Given the description of an element on the screen output the (x, y) to click on. 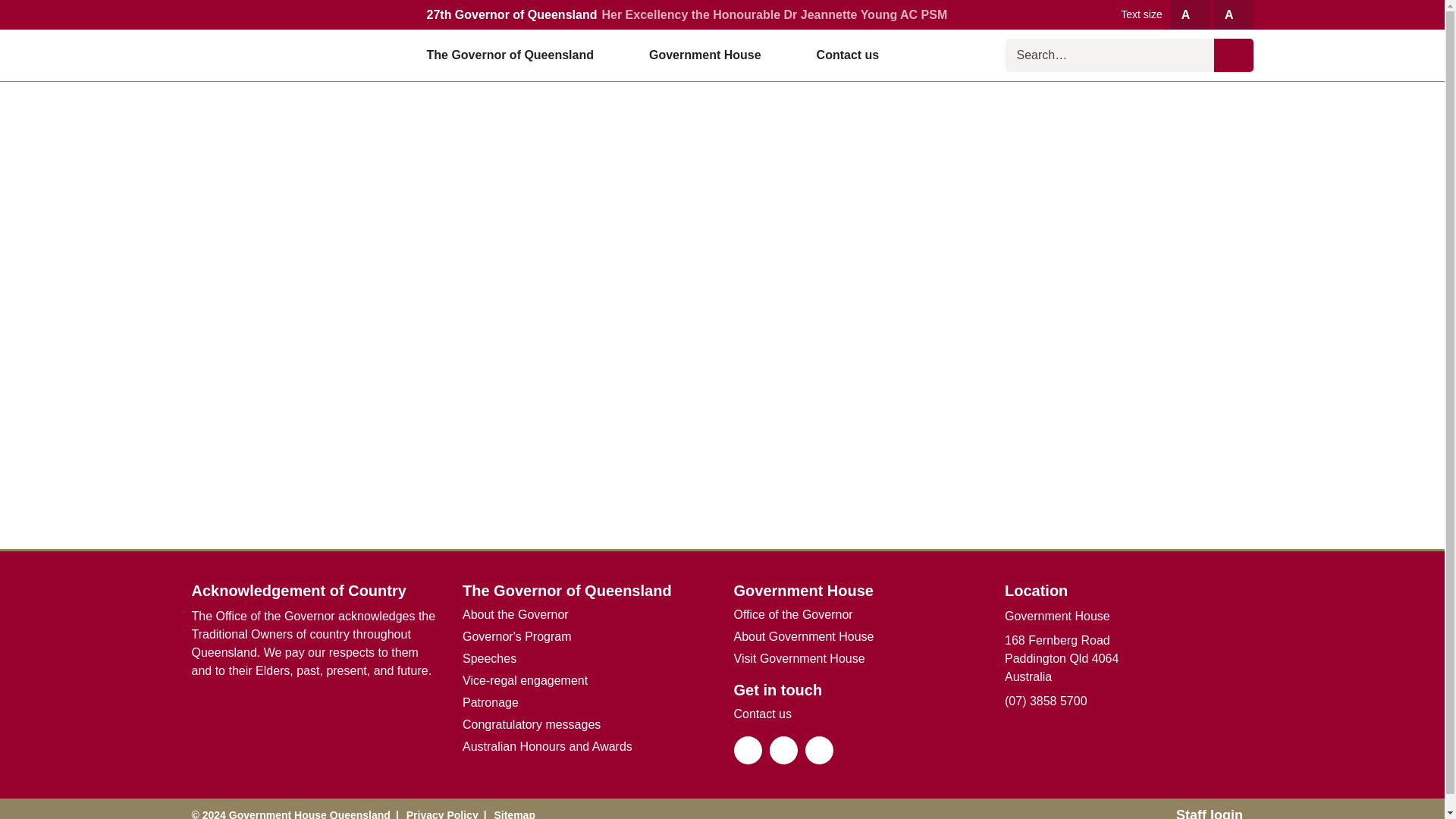
About the Governor (516, 614)
Decrease text size (1232, 14)
A (1232, 14)
Increase text size (1189, 14)
Government House (711, 55)
Governor's Program (517, 636)
A (1189, 14)
The Governor of Queensland (515, 55)
Government House Queensland (287, 55)
Contact us (848, 55)
